Given the description of an element on the screen output the (x, y) to click on. 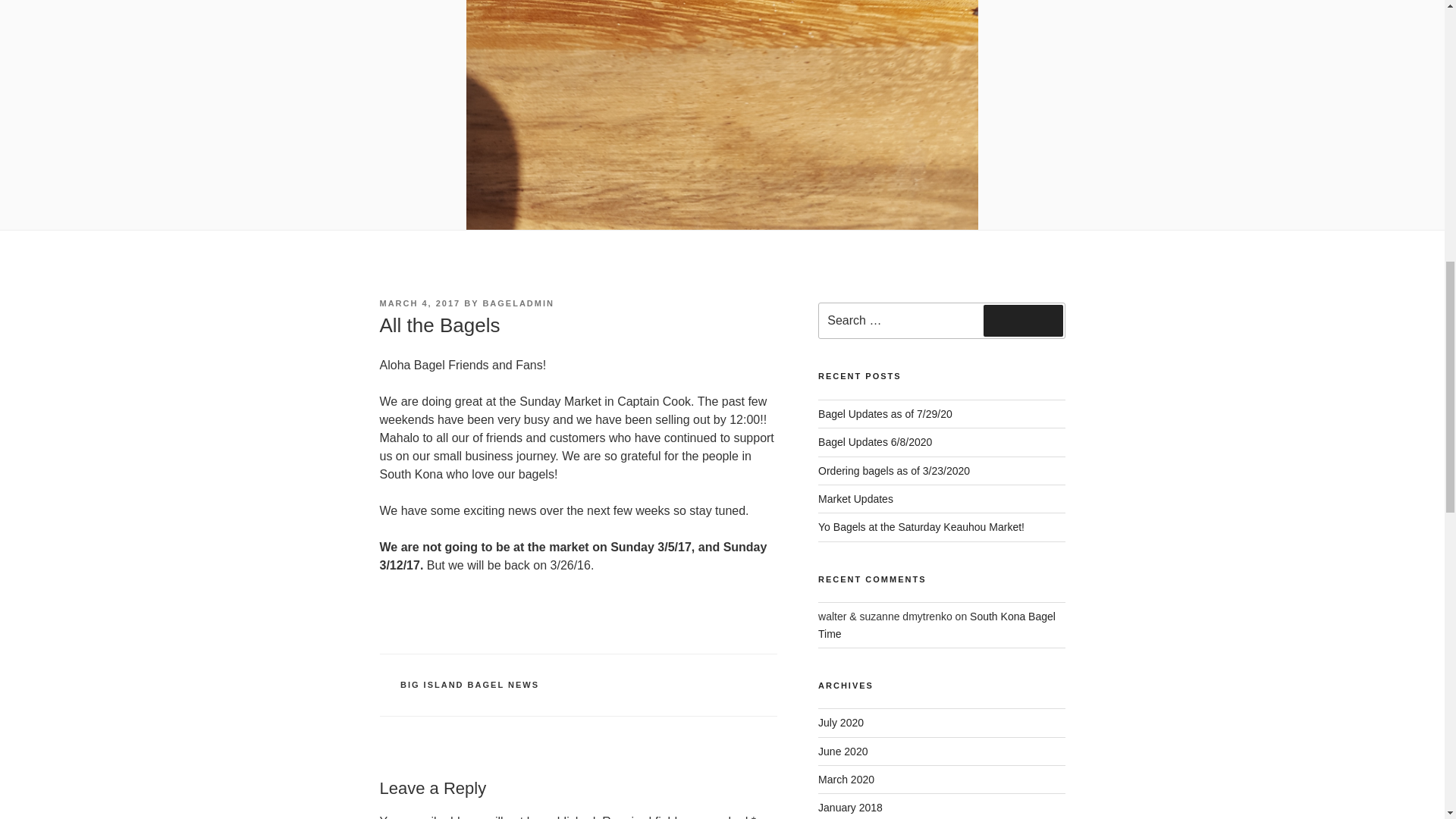
July 2020 (840, 722)
BIG ISLAND BAGEL NEWS (469, 684)
Search (1023, 320)
June 2020 (842, 751)
South Kona Bagel Time (936, 624)
January 2018 (850, 807)
March 2020 (846, 779)
Market Updates (855, 499)
Yo Bagels at the Saturday Keauhou Market! (921, 526)
MARCH 4, 2017 (419, 302)
